Given the description of an element on the screen output the (x, y) to click on. 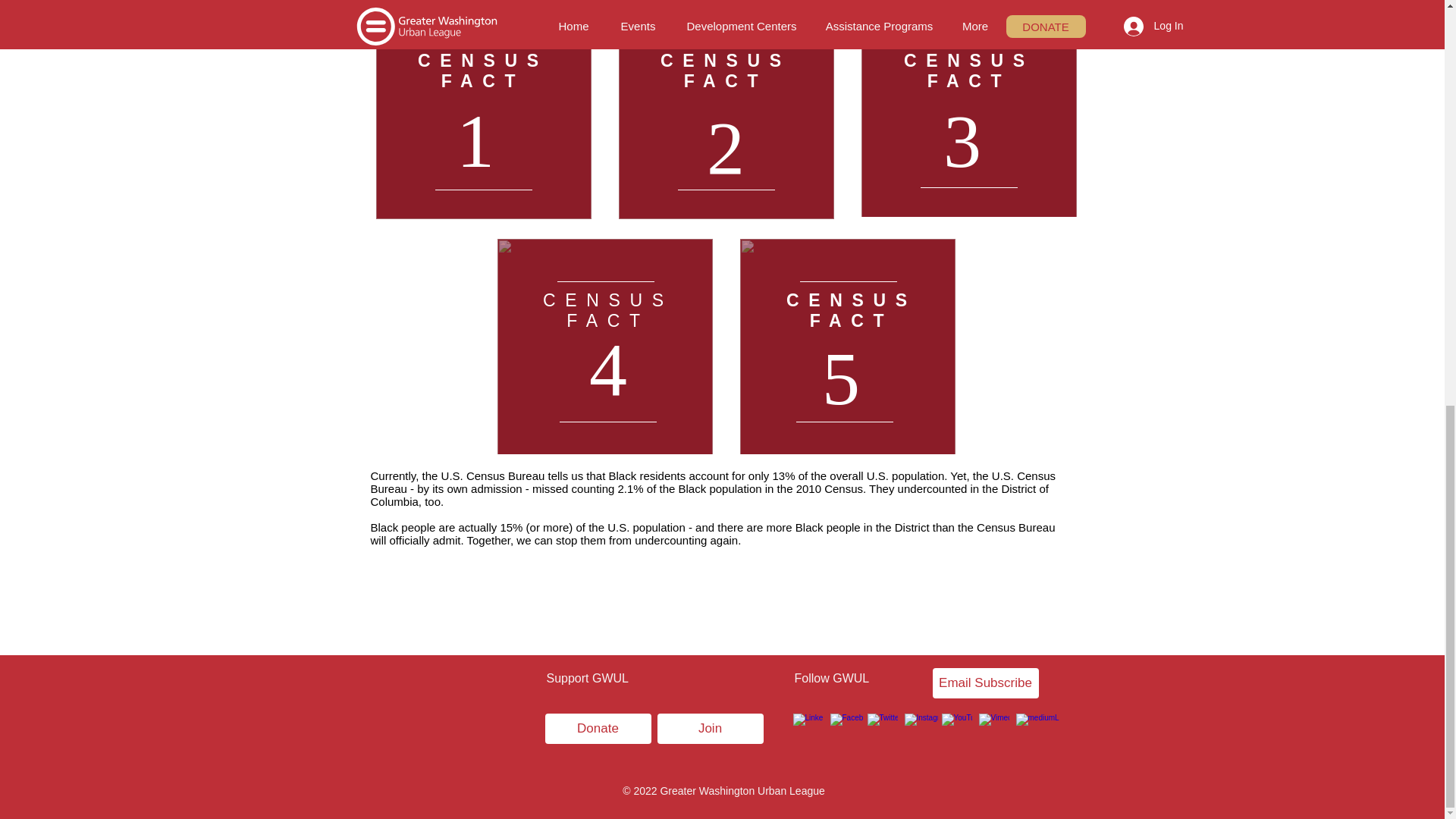
Donate (597, 728)
Email Subscribe (986, 683)
Join (709, 728)
